Given the description of an element on the screen output the (x, y) to click on. 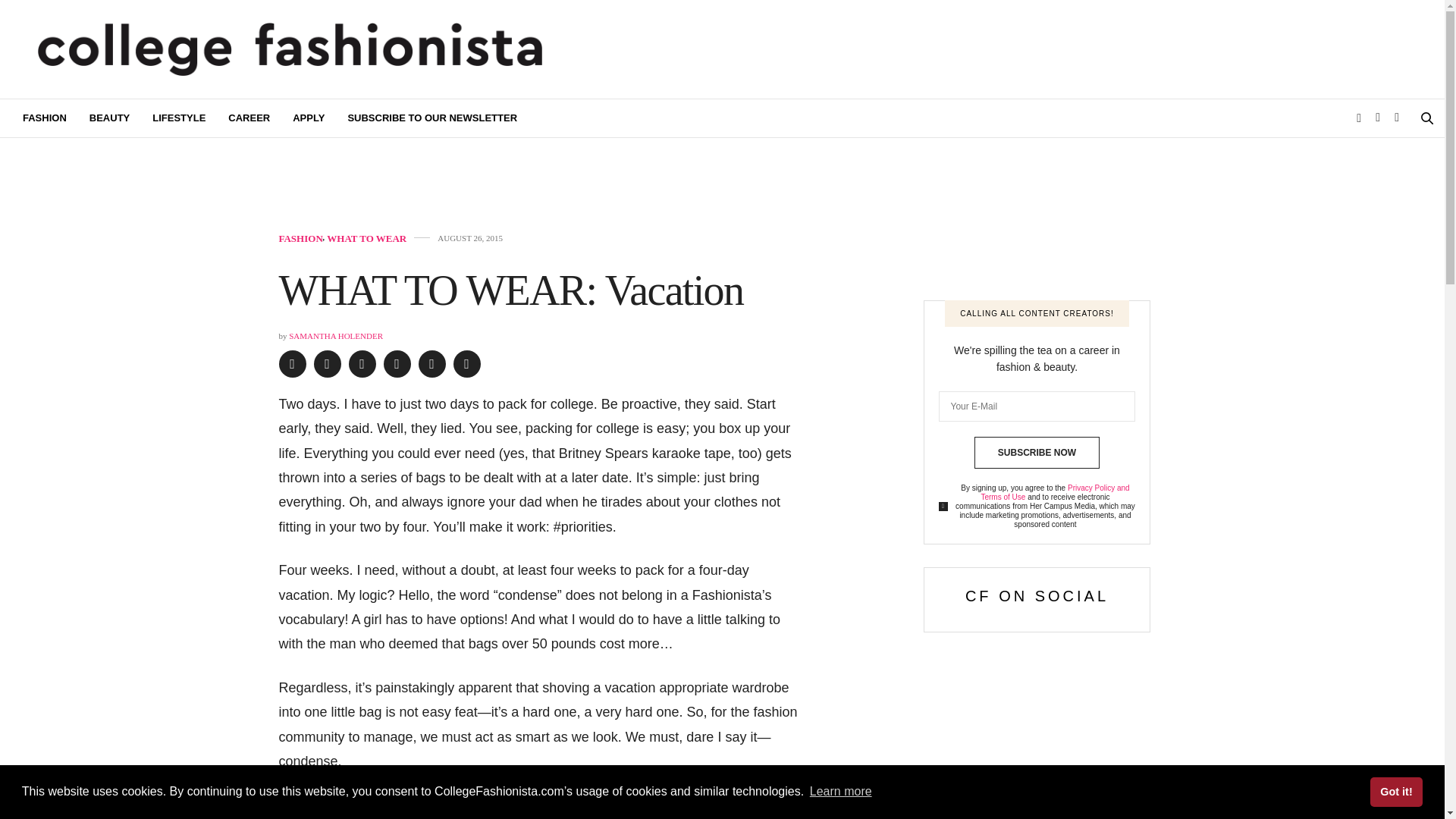
WHAT TO WEAR (366, 238)
FASHION (301, 238)
FASHION (44, 118)
CAREER (248, 118)
SUBSCRIBE TO OUR NEWSLETTER (431, 118)
SAMANTHA HOLENDER (335, 335)
BEAUTY (108, 118)
CollegeFashionista.com (289, 49)
Posts by Samantha Holender (335, 335)
LIFESTYLE (178, 118)
